Given the description of an element on the screen output the (x, y) to click on. 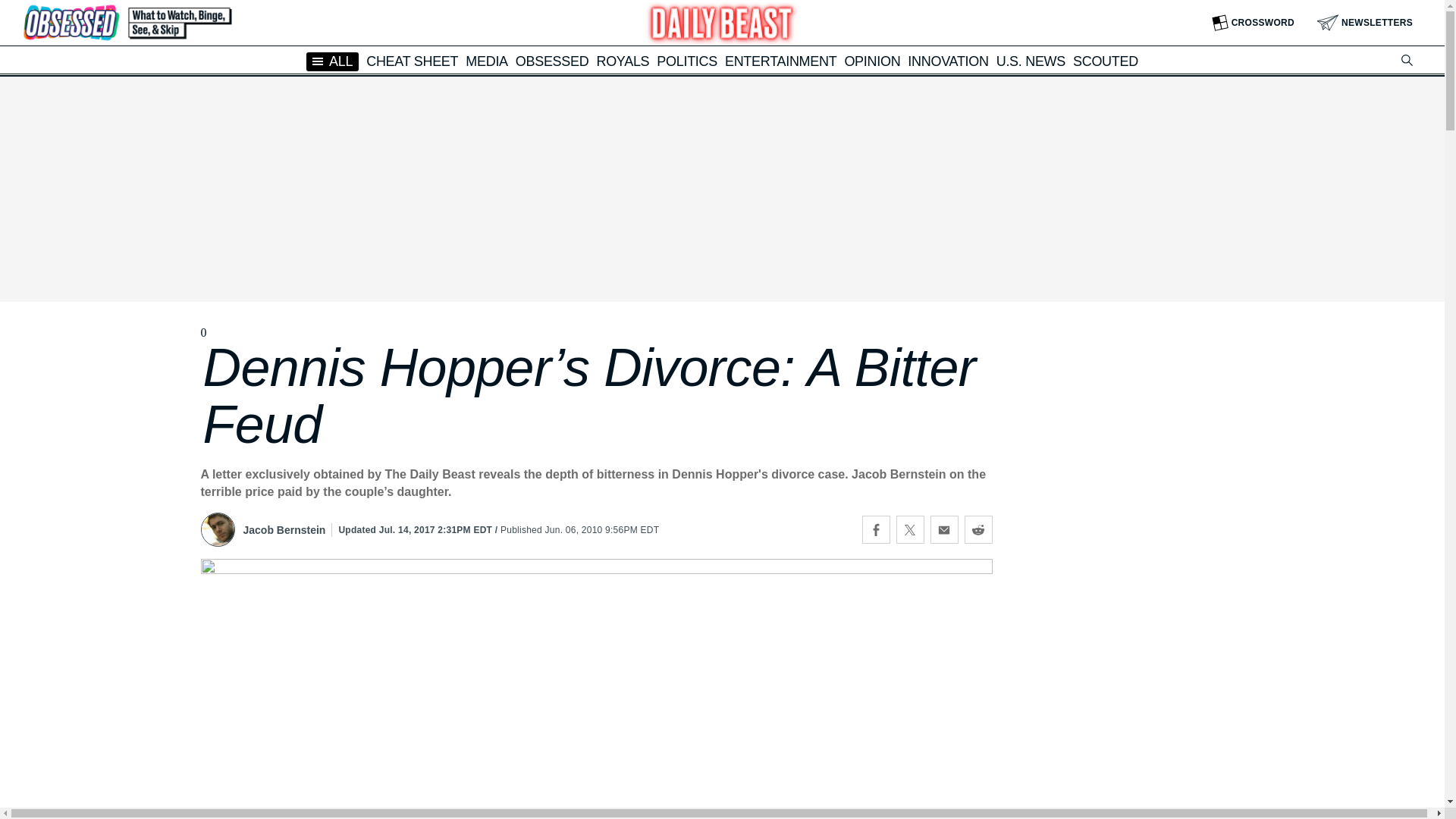
CROSSWORD (1252, 22)
NEWSLETTERS (1364, 22)
MEDIA (486, 60)
ENTERTAINMENT (780, 60)
POLITICS (686, 60)
ROYALS (622, 60)
OPINION (871, 60)
CHEAT SHEET (412, 60)
SCOUTED (1105, 60)
OBSESSED (552, 60)
